Given the description of an element on the screen output the (x, y) to click on. 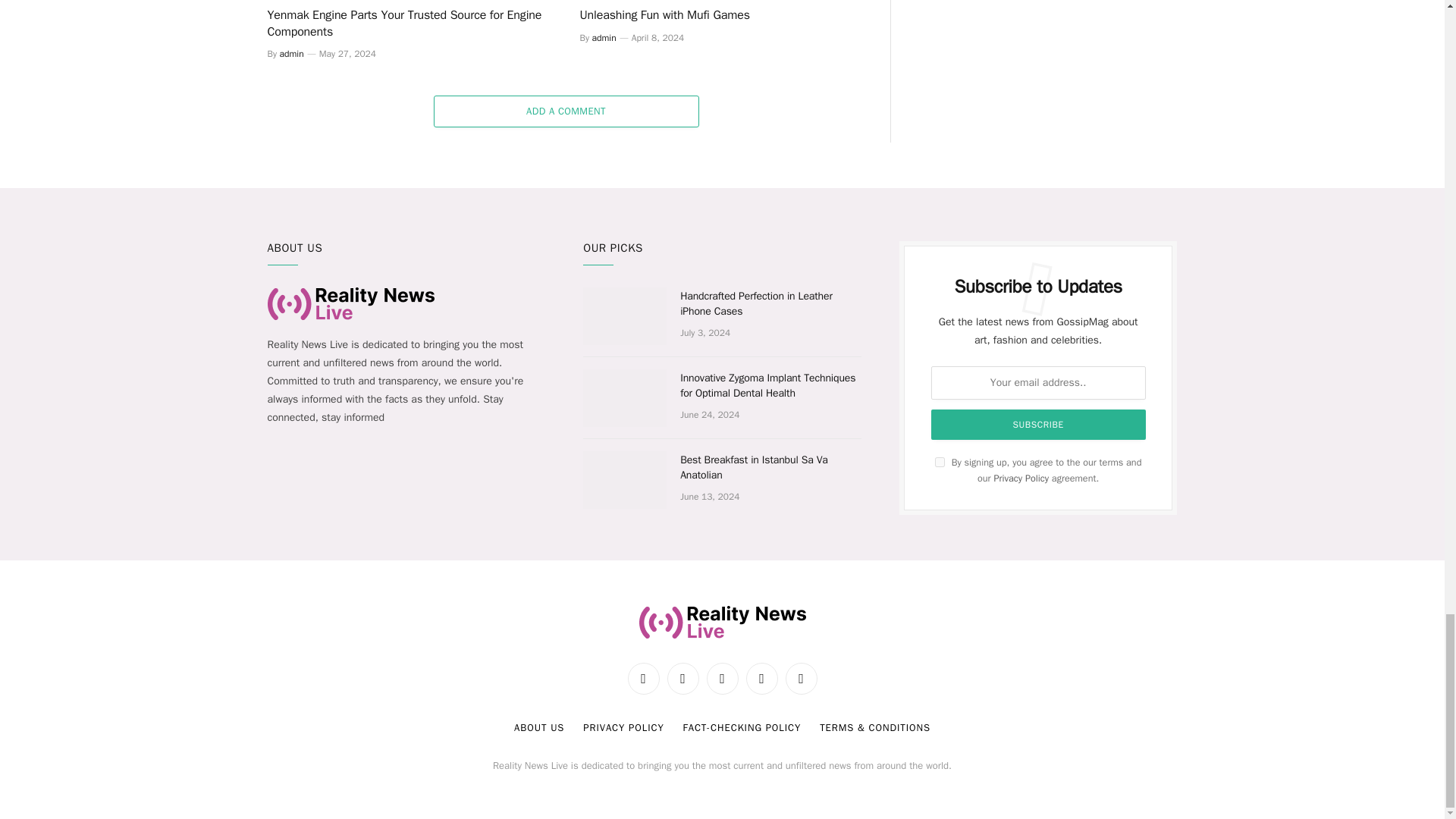
Subscribe (1038, 424)
on (939, 461)
